Given the description of an element on the screen output the (x, y) to click on. 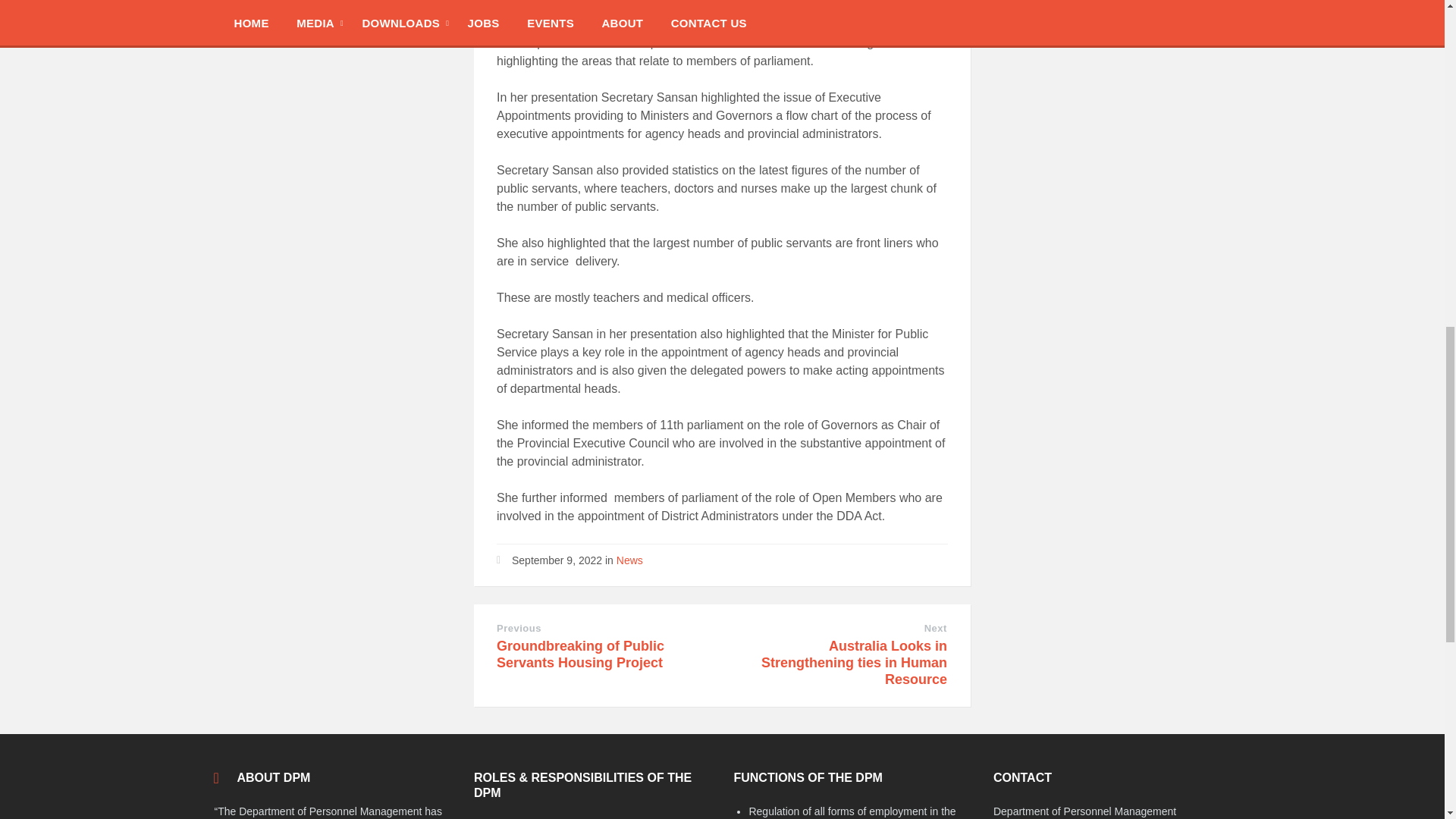
Australia Looks in Strengthening ties in Human Resource (854, 662)
News (629, 560)
Previous (518, 627)
Next (935, 627)
Groundbreaking of Public Servants Housing Project (579, 654)
